Given the description of an element on the screen output the (x, y) to click on. 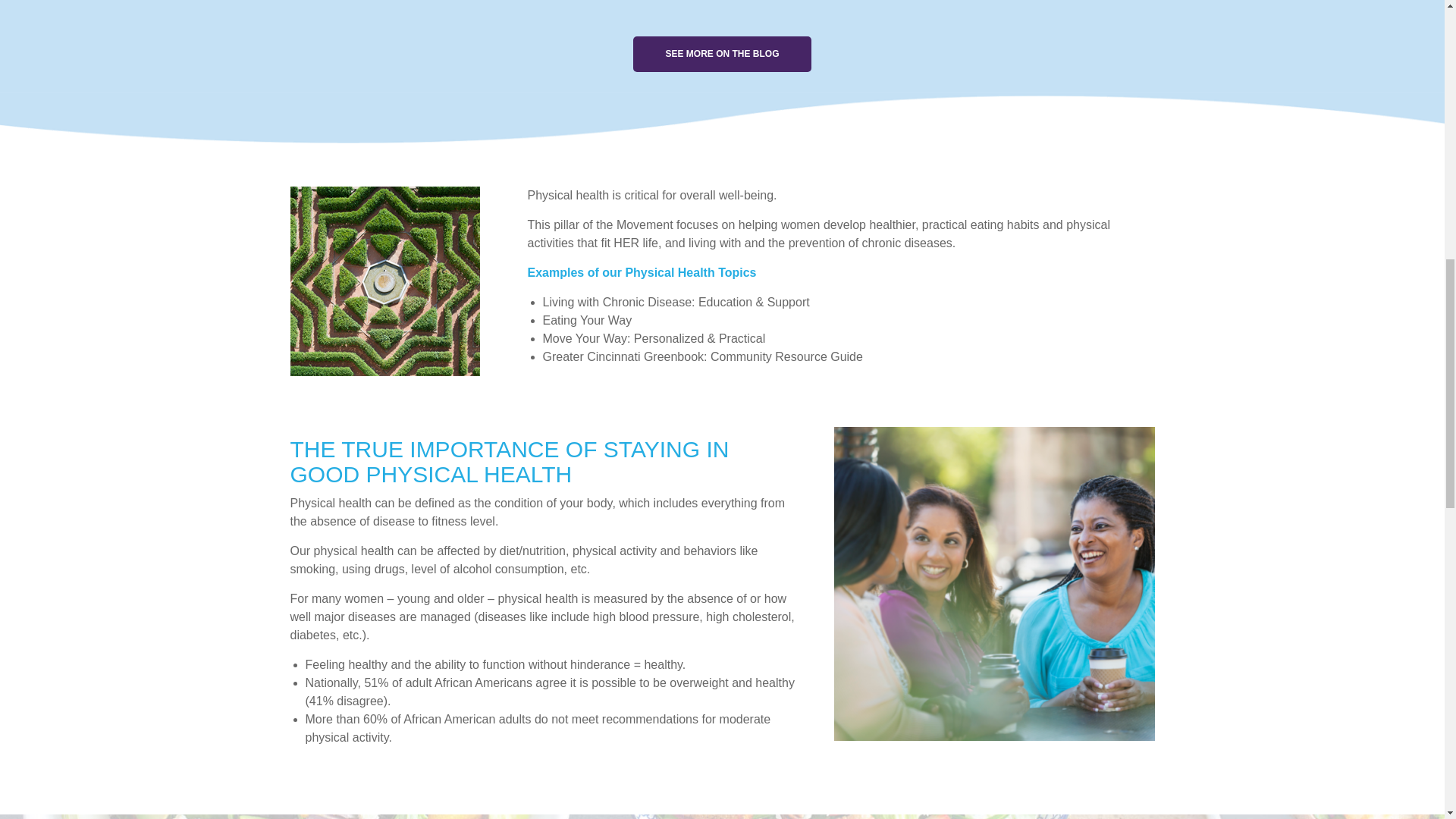
SEE MORE ON THE BLOG (721, 54)
